Given the description of an element on the screen output the (x, y) to click on. 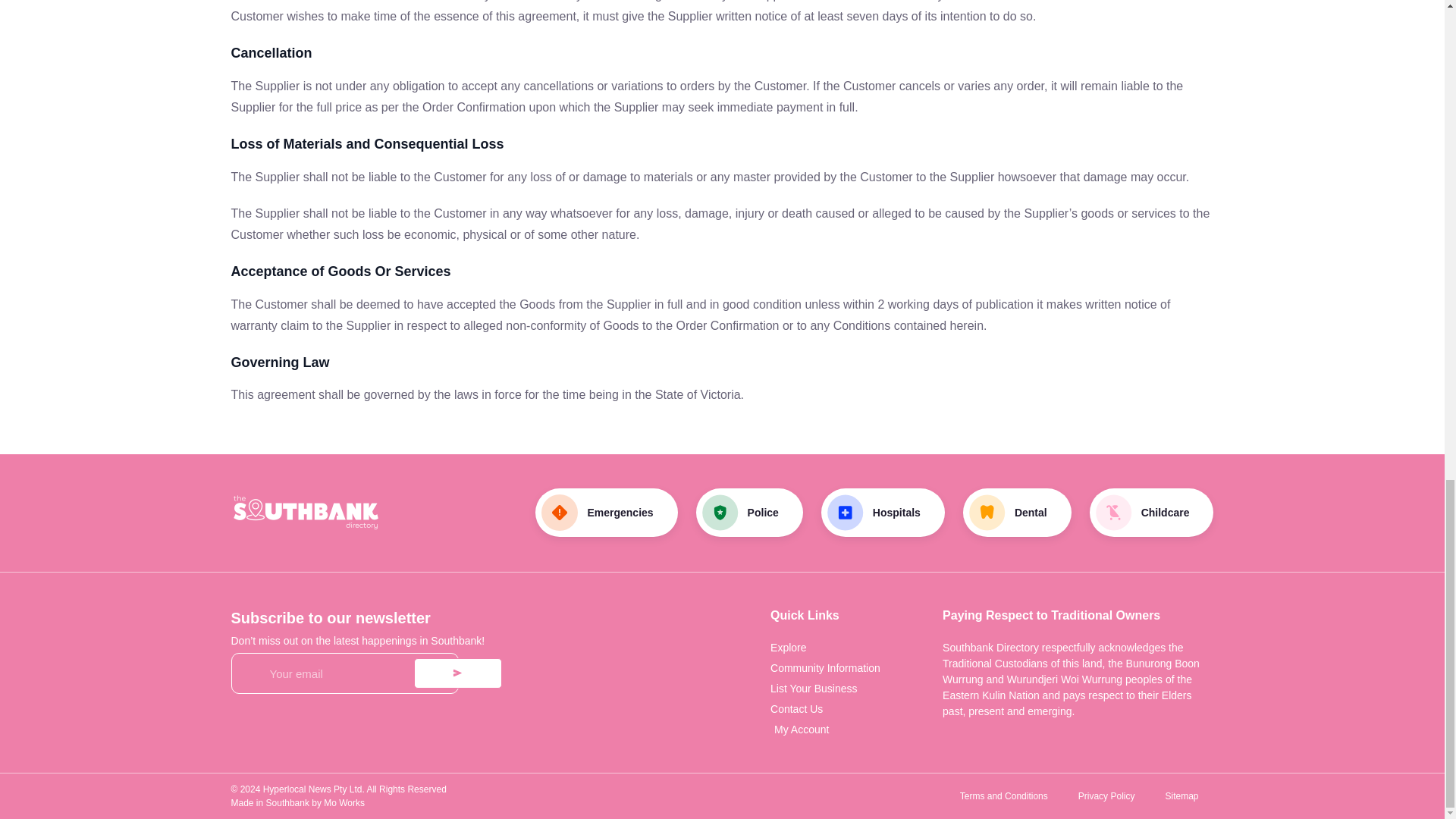
Community Information (856, 668)
Police (749, 512)
My Account (856, 729)
List Your Business (856, 688)
Explore (856, 647)
Dental (1016, 512)
Childcare (1151, 512)
Contact Us (856, 709)
Mo Works (344, 802)
Emergencies (606, 512)
Hospitals (882, 512)
